Given the description of an element on the screen output the (x, y) to click on. 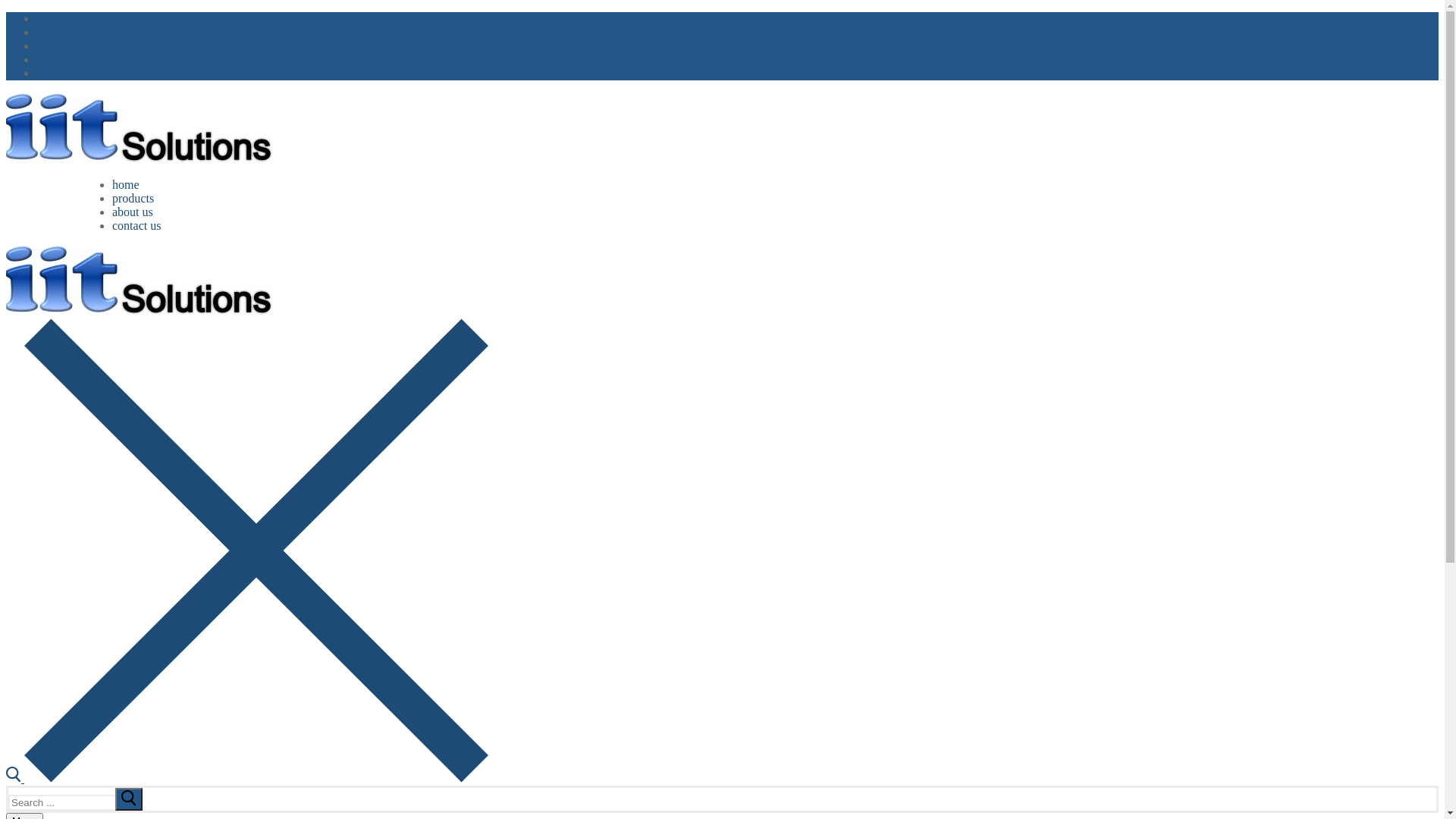
Skip to content Element type: text (5, 11)
Search for: Element type: hover (75, 802)
about us Element type: text (132, 211)
home Element type: text (125, 184)
products Element type: text (132, 197)
contact us Element type: text (136, 225)
